Given the description of an element on the screen output the (x, y) to click on. 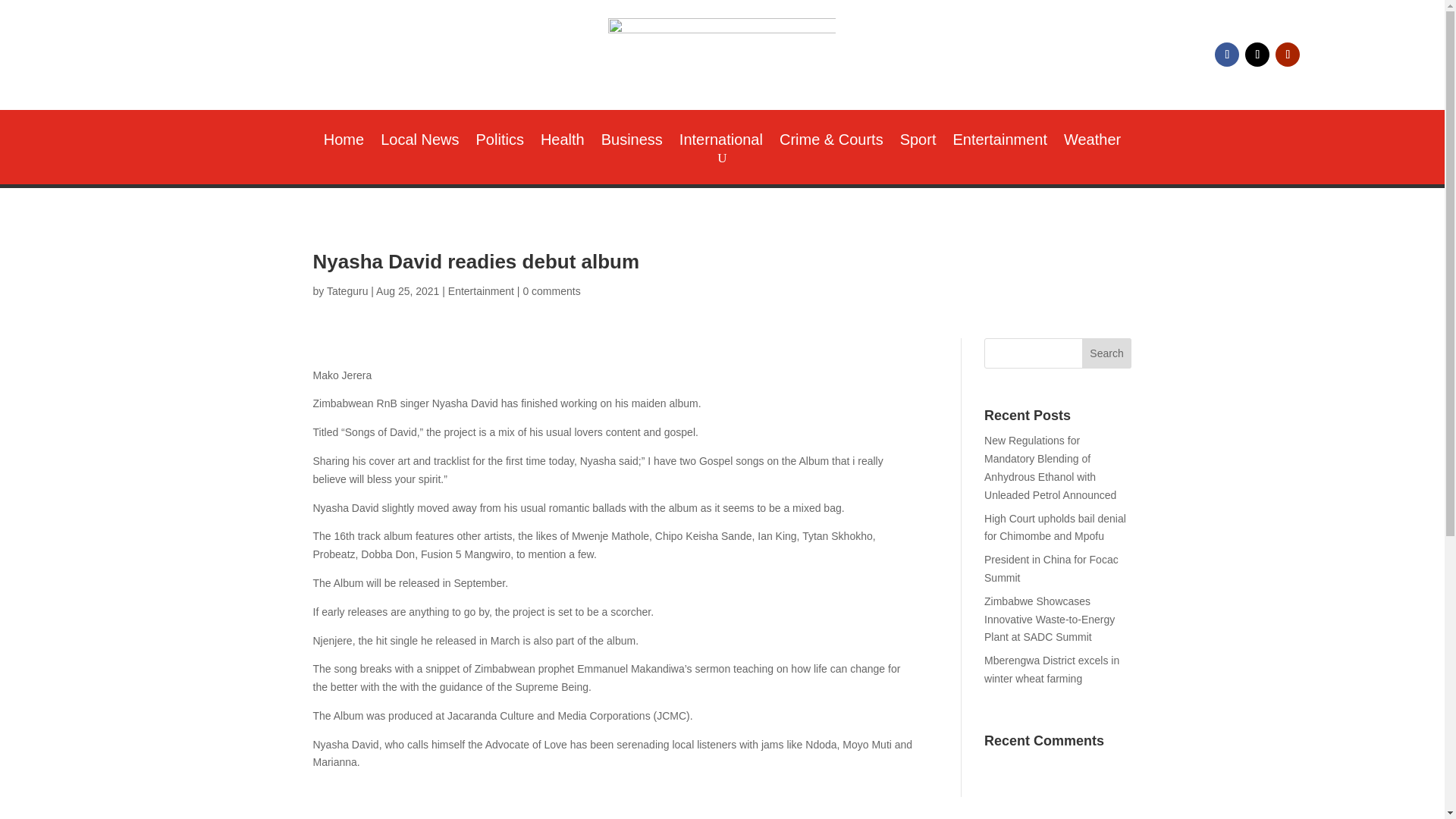
President in China for Focac Summit (1051, 568)
Follow on Youtube (1287, 54)
Health (562, 142)
Entertainment (480, 291)
Search (1106, 353)
International (720, 142)
Entertainment (999, 142)
Local News (419, 142)
Home (343, 142)
Mberengwa District excels in winter wheat farming (1051, 669)
